Given the description of an element on the screen output the (x, y) to click on. 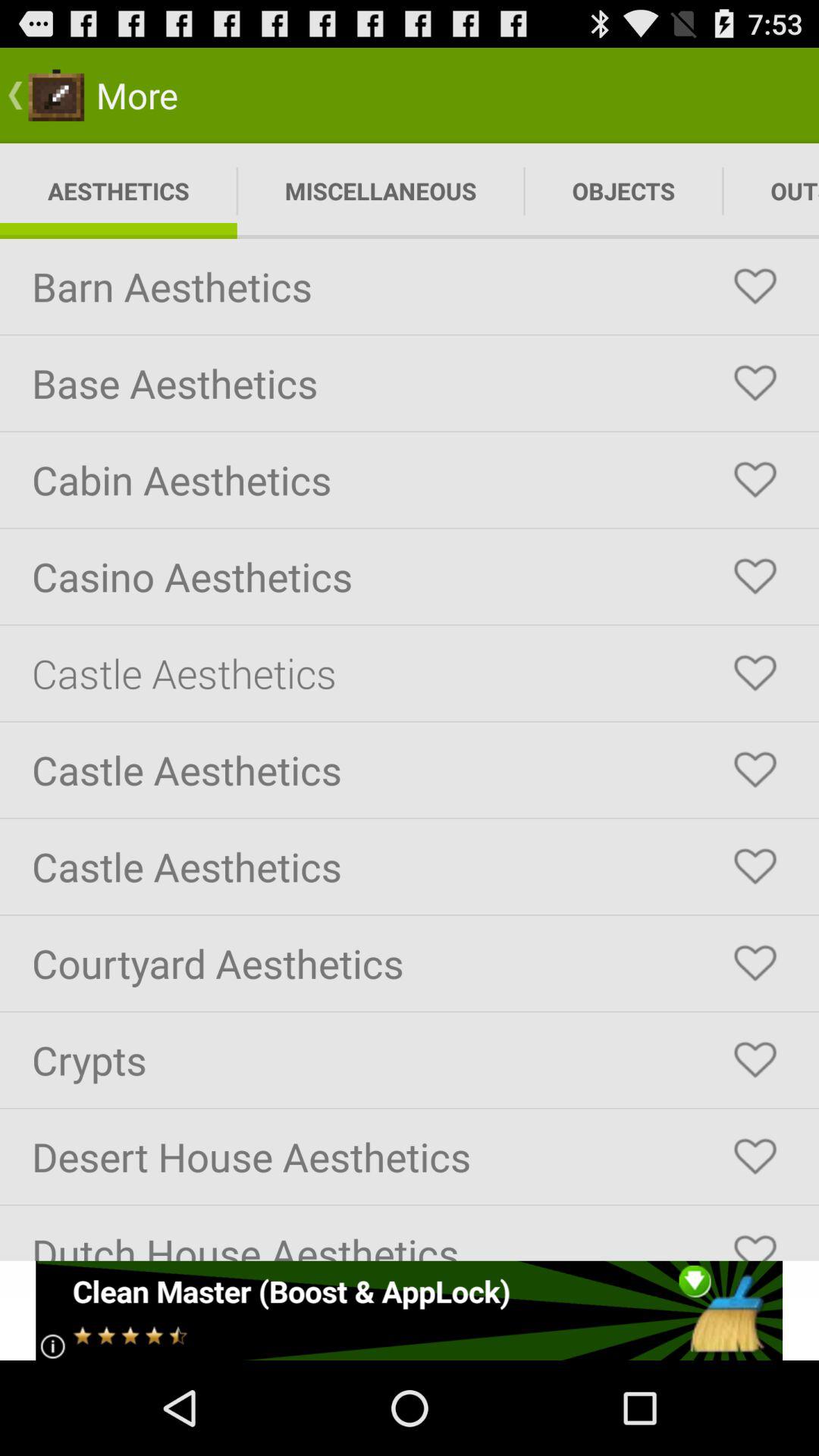
click the love symbol (755, 673)
